Given the description of an element on the screen output the (x, y) to click on. 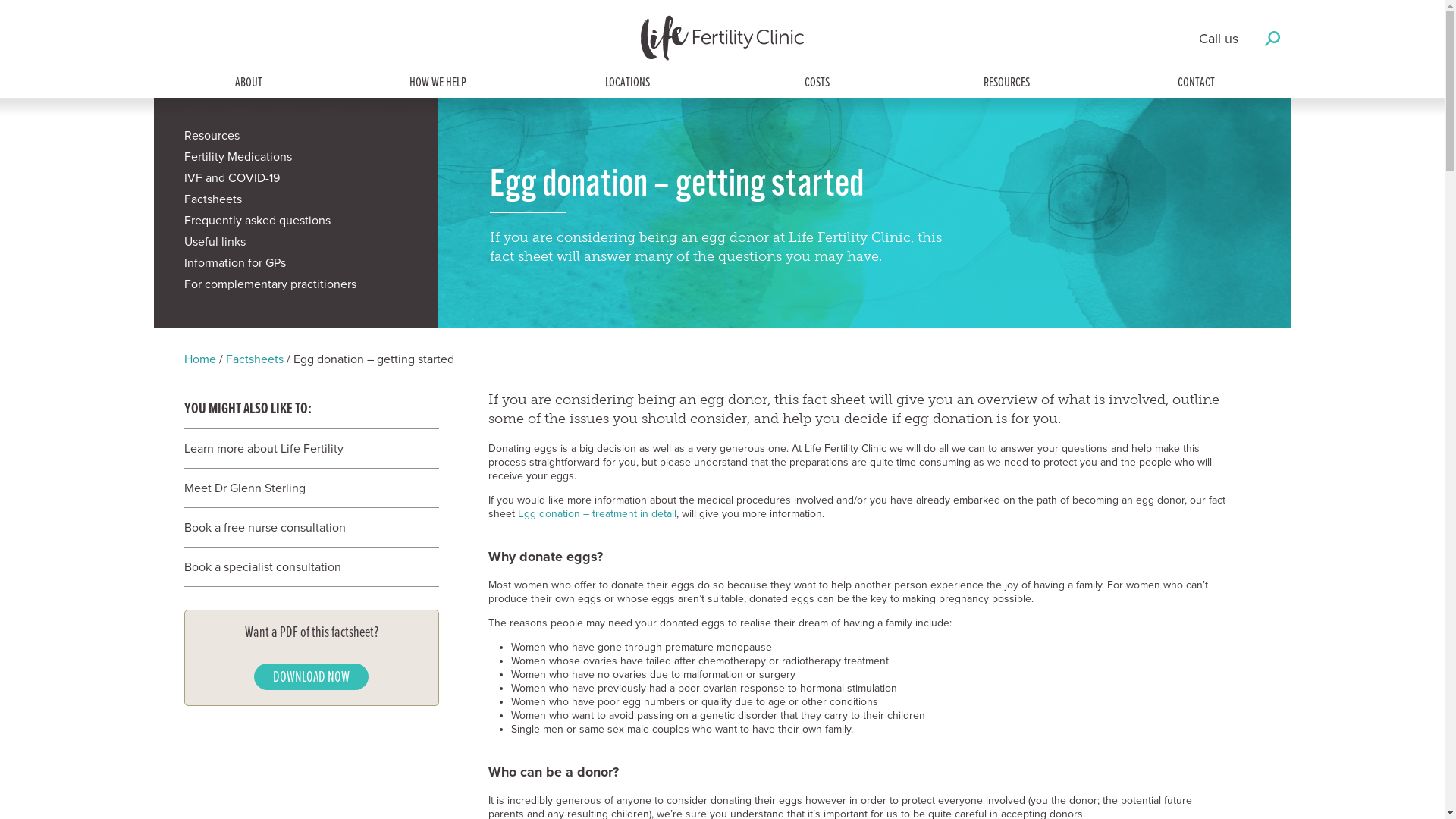
Frequently asked questions Element type: text (295, 223)
Information for GPs Element type: text (295, 265)
Meet Dr Glenn Sterling Element type: text (303, 487)
Factsheets Element type: text (295, 202)
CONTACT Element type: text (1195, 82)
DOWNLOAD NOW Element type: text (311, 676)
Book a free nurse consultation Element type: text (303, 527)
RESOURCES Element type: text (1006, 82)
COSTS Element type: text (816, 82)
Resources Element type: text (295, 138)
LOCATIONS Element type: text (627, 82)
For complementary practitioners Element type: text (295, 287)
Factsheets Element type: text (254, 359)
Learn more about Life Fertility Element type: text (303, 448)
Useful links Element type: text (295, 244)
Book a specialist consultation Element type: text (303, 566)
IVF and COVID-19 Element type: text (295, 180)
Fertility Medications Element type: text (295, 159)
ABOUT Element type: text (248, 82)
Home Element type: text (199, 359)
CONTACT US Element type: text (722, 710)
Search Element type: text (722, 351)
Call us Element type: text (1217, 38)
HOW WE HELP Element type: text (437, 82)
